Given the description of an element on the screen output the (x, y) to click on. 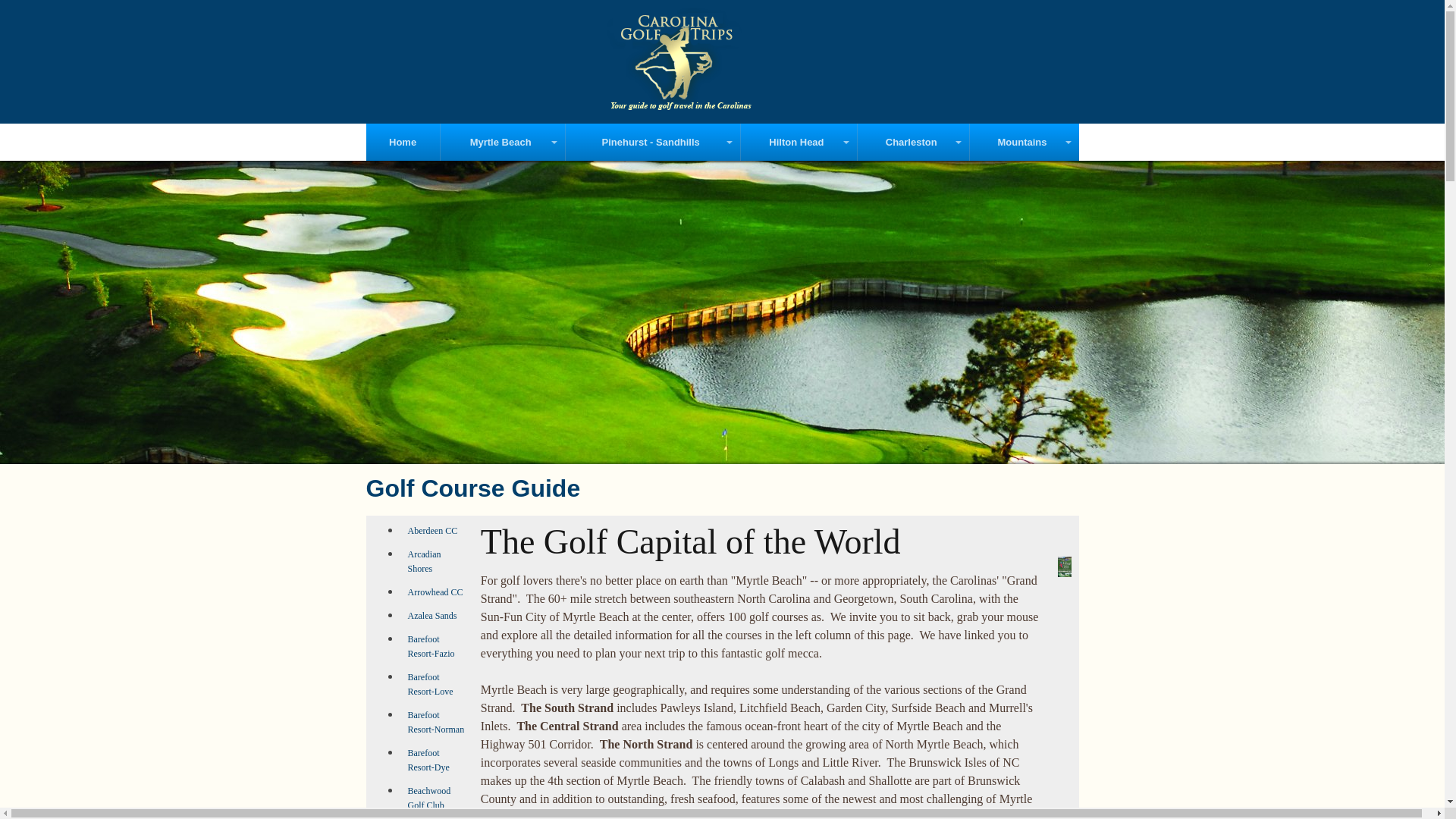
Azalea Sands (432, 615)
Barefoot Resort-Dye (428, 760)
Myrtle Beach (503, 141)
Arcadian Shores (424, 561)
Barefoot Resort-Love (429, 683)
Beachwood Golf Club (429, 797)
Aberdeen CC (432, 530)
Barefoot Resort-Fazio (430, 646)
Arrowhead CC (435, 592)
Pinehurst - Sandhills (652, 141)
Hilton Head (799, 141)
Charleston (913, 141)
Home (402, 141)
Mountains (1023, 141)
Barefoot Resort-Norman (435, 722)
